Given the description of an element on the screen output the (x, y) to click on. 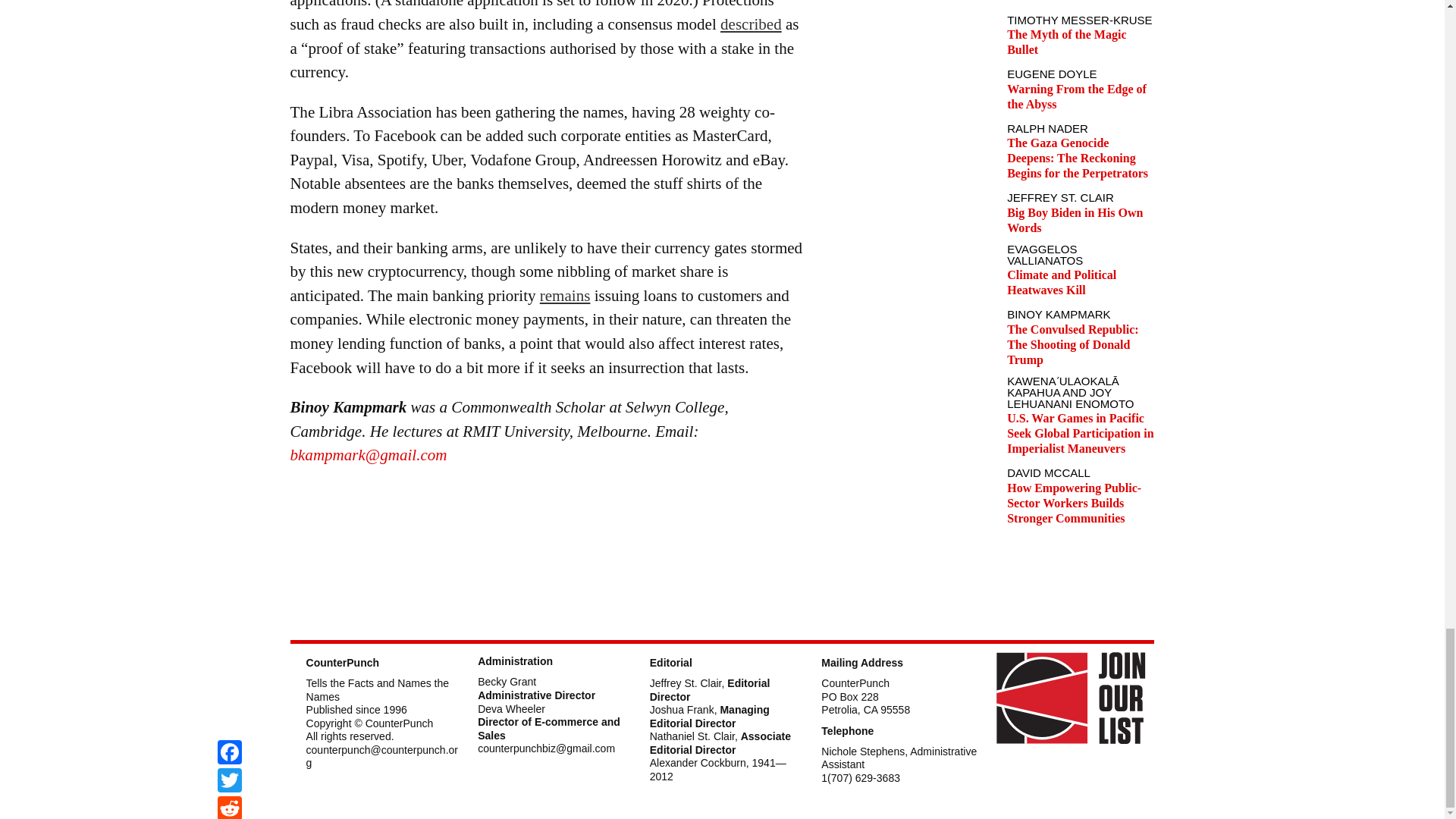
remains (565, 295)
described (750, 24)
